Given the description of an element on the screen output the (x, y) to click on. 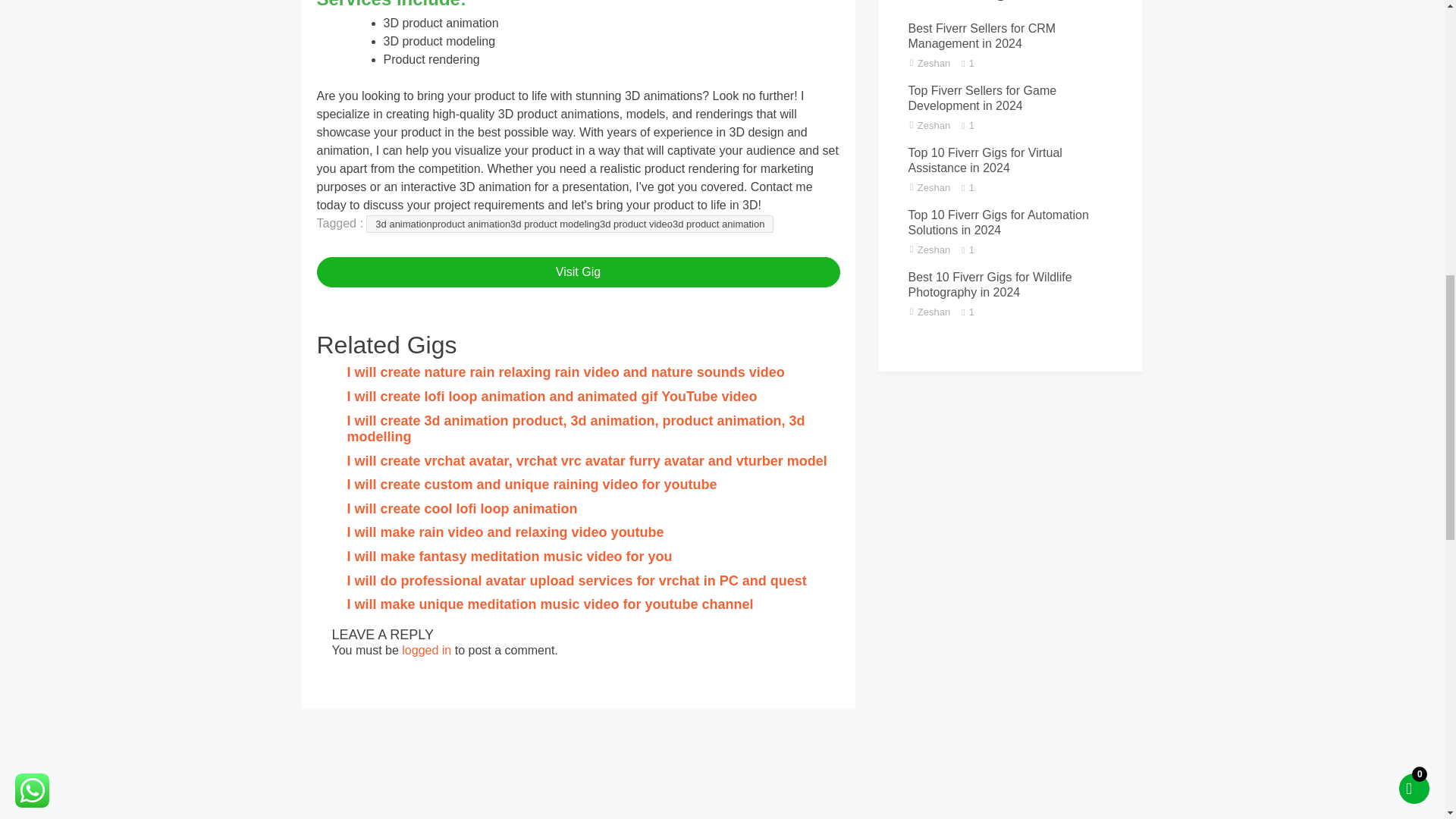
Visit Gig (578, 272)
I will create cool lofi loop animation (462, 508)
I will make fantasy meditation music video for you (509, 556)
I will create custom and unique raining video for youtube (532, 484)
I will create custom and unique raining video for youtube (532, 484)
I will make rain video and relaxing video youtube (505, 531)
